Given the description of an element on the screen output the (x, y) to click on. 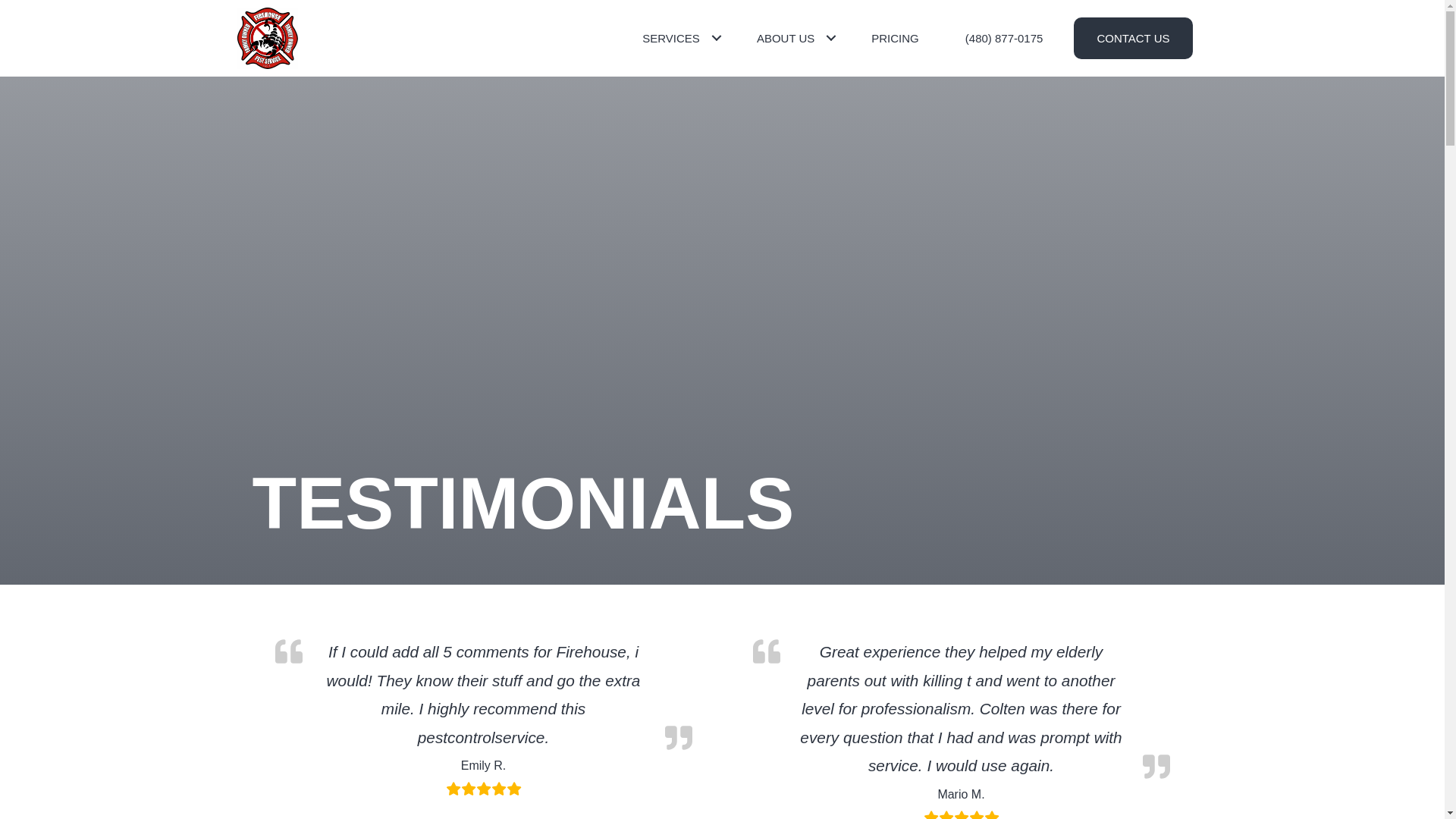
SERVICES (676, 37)
PRICING (895, 37)
firehouse logo (266, 37)
CONTACT US (1133, 37)
ABOUT US (790, 37)
